Given the description of an element on the screen output the (x, y) to click on. 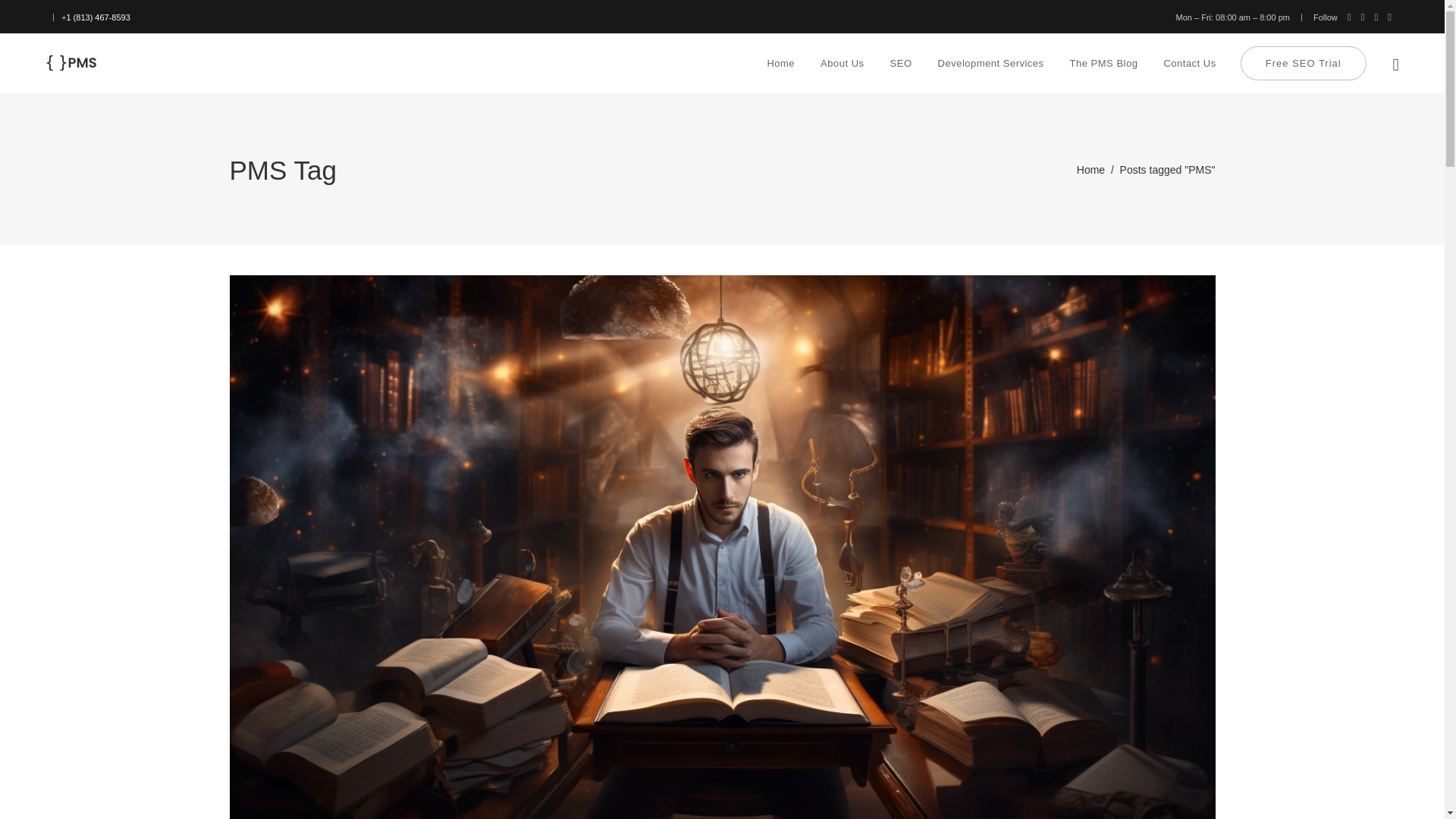
About Us (842, 63)
Development Services (990, 63)
Home (781, 63)
